Given the description of an element on the screen output the (x, y) to click on. 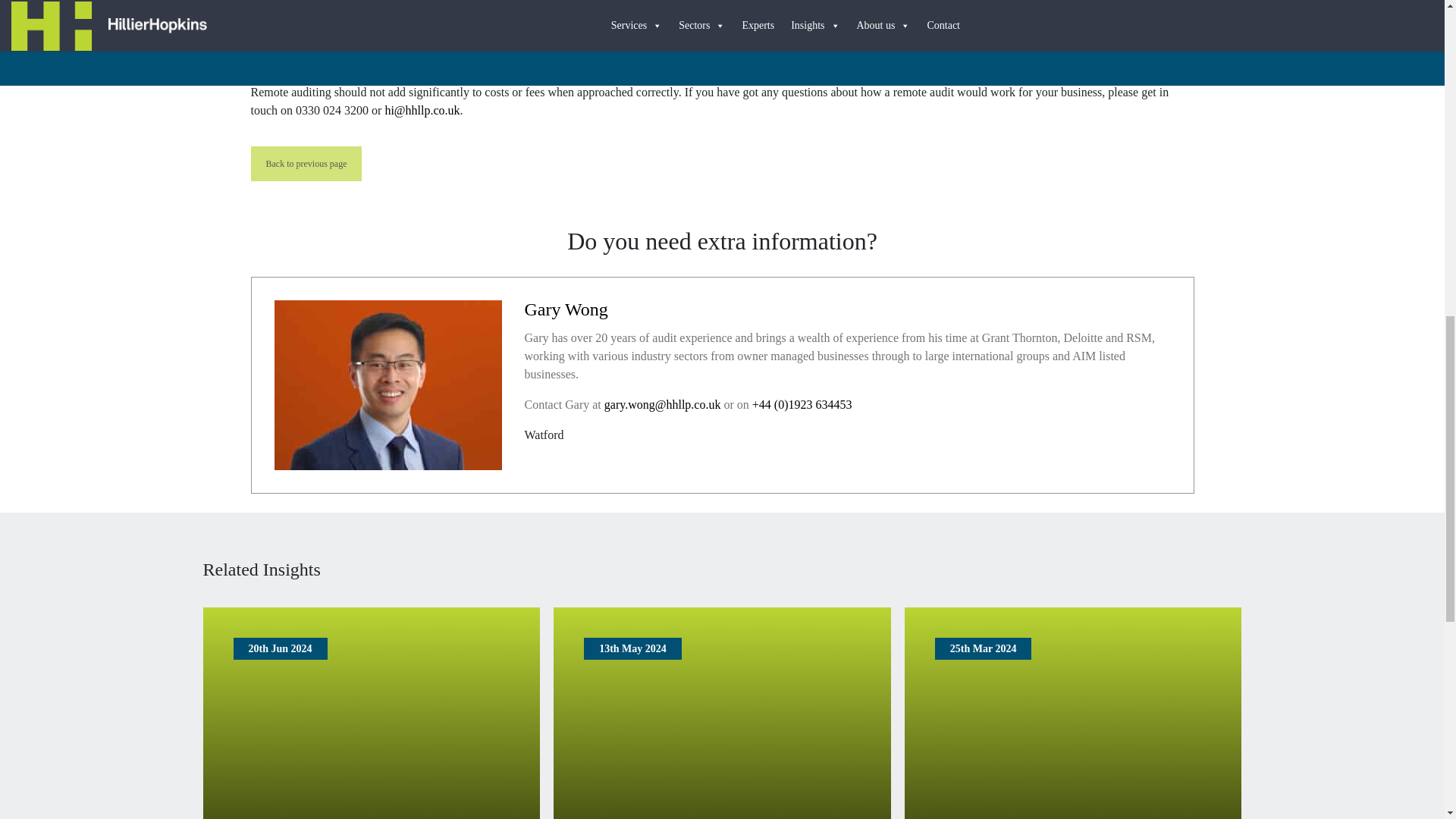
Back to previous page (305, 163)
